Given the description of an element on the screen output the (x, y) to click on. 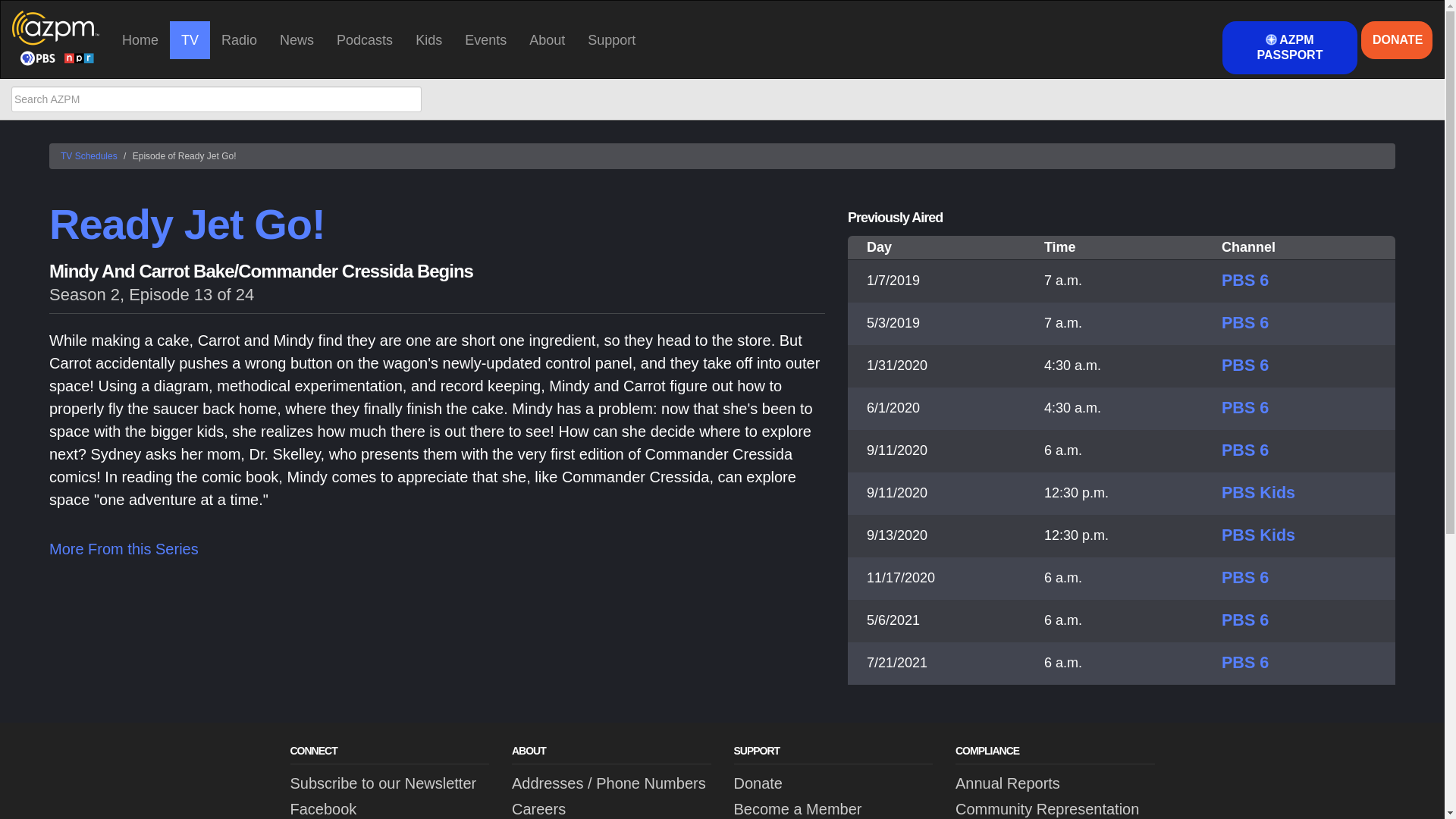
TV (189, 39)
News (295, 39)
Home (140, 39)
Kids (428, 39)
Events (485, 39)
Radio (238, 39)
Podcasts (364, 39)
About (547, 39)
